Given the description of an element on the screen output the (x, y) to click on. 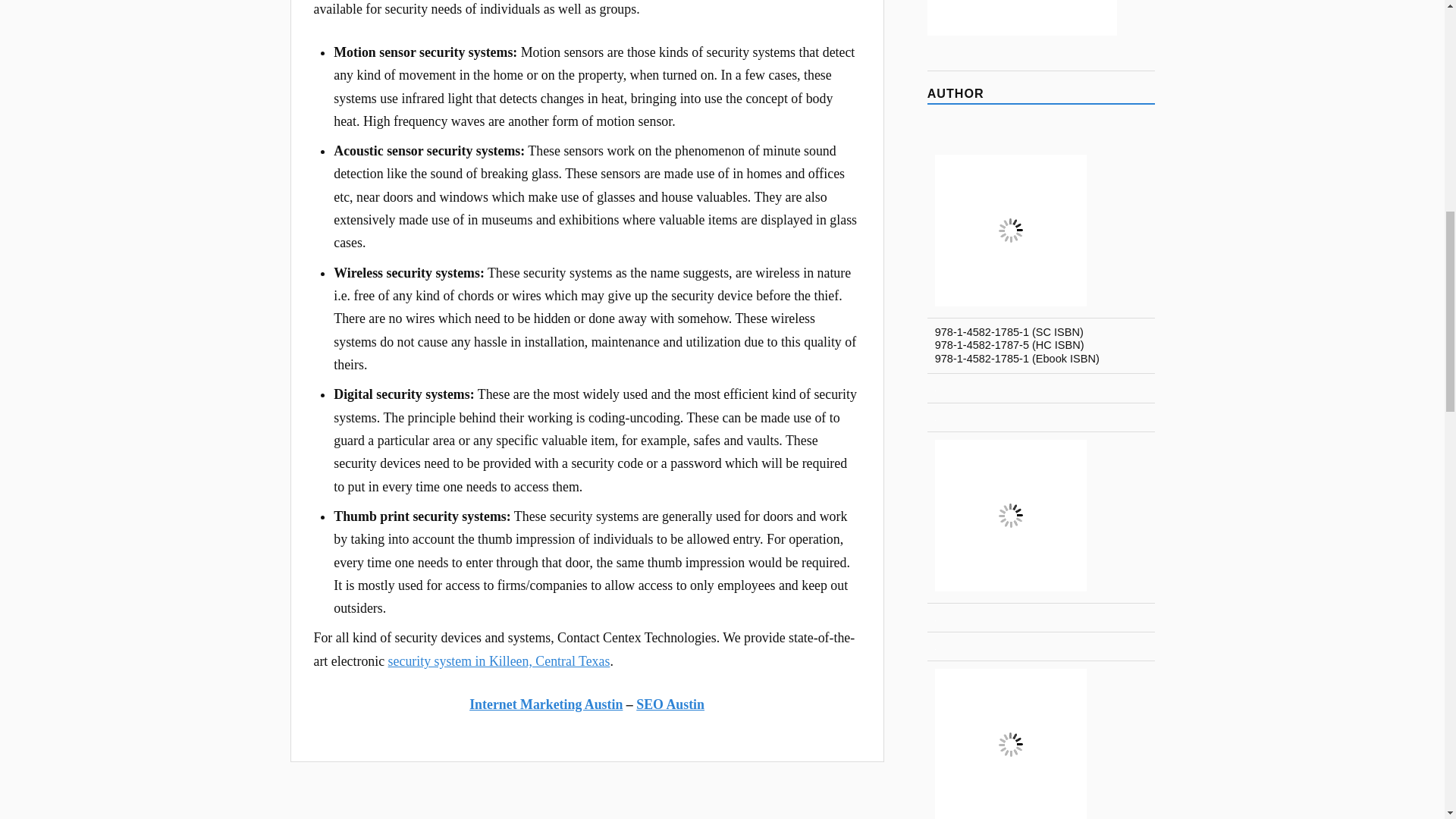
SEO Austin (670, 703)
SEO Austin (670, 703)
Internet Marketing Austin (545, 703)
Internet Marketing Austin (545, 703)
Security System Killeen, Central Texas (499, 661)
security system in Killeen, Central Texas (499, 661)
